Given the description of an element on the screen output the (x, y) to click on. 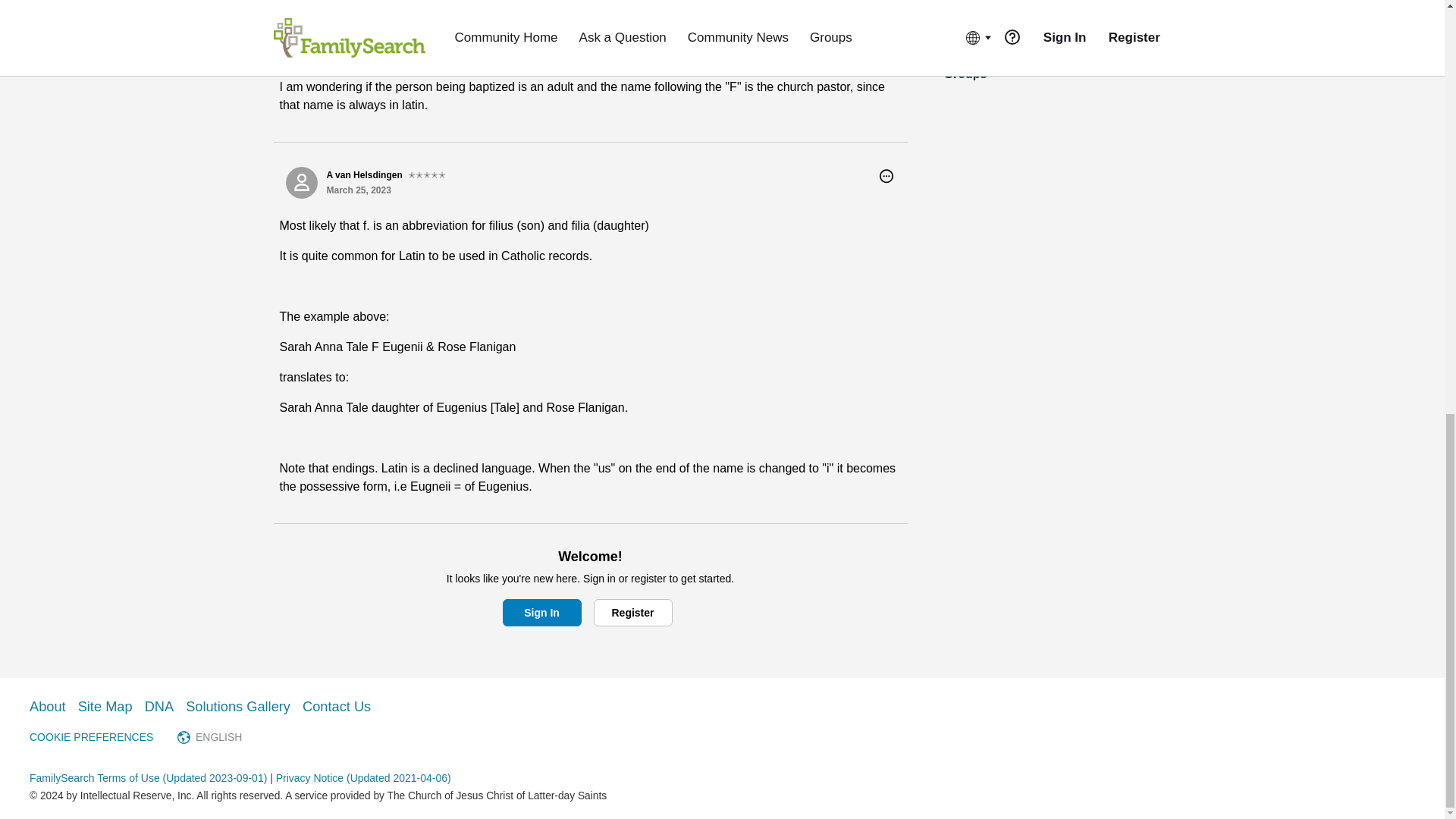
MargaretPark (301, 43)
March 25, 2023 6:53AM (358, 50)
A van Helsdingen (301, 183)
March 25, 2023 9:01AM (358, 190)
Sign In (541, 612)
Level 1 (393, 36)
Level 5 (426, 174)
